Given the description of an element on the screen output the (x, y) to click on. 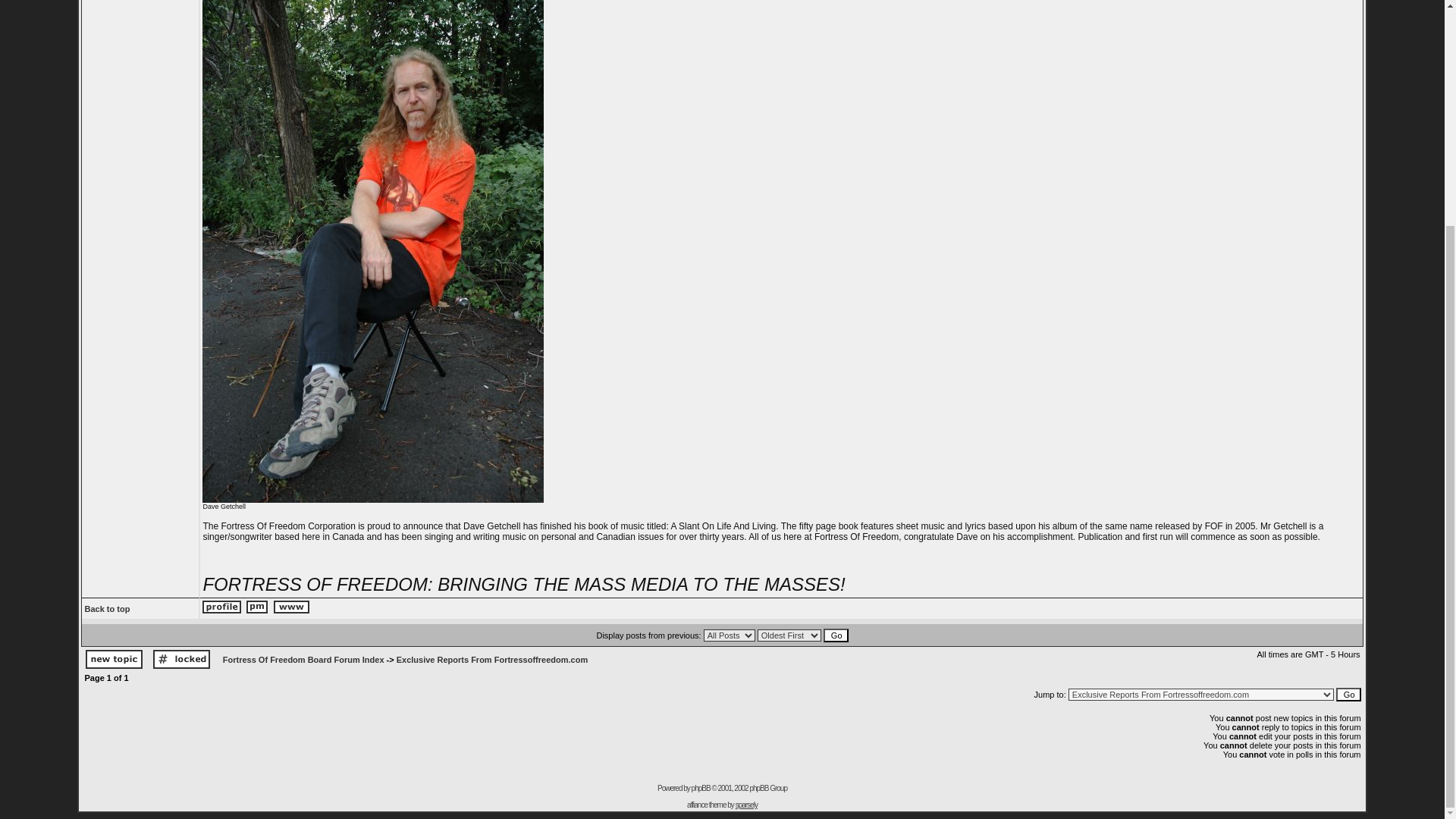
Go (836, 634)
Exclusive Reports From Fortressoffreedom.com (492, 659)
Go (1348, 694)
sparsely (746, 804)
phpBB (700, 787)
Fortress Of Freedom Board Forum Index (303, 659)
Go (1348, 694)
Back to top (106, 607)
Go (836, 634)
